Given the description of an element on the screen output the (x, y) to click on. 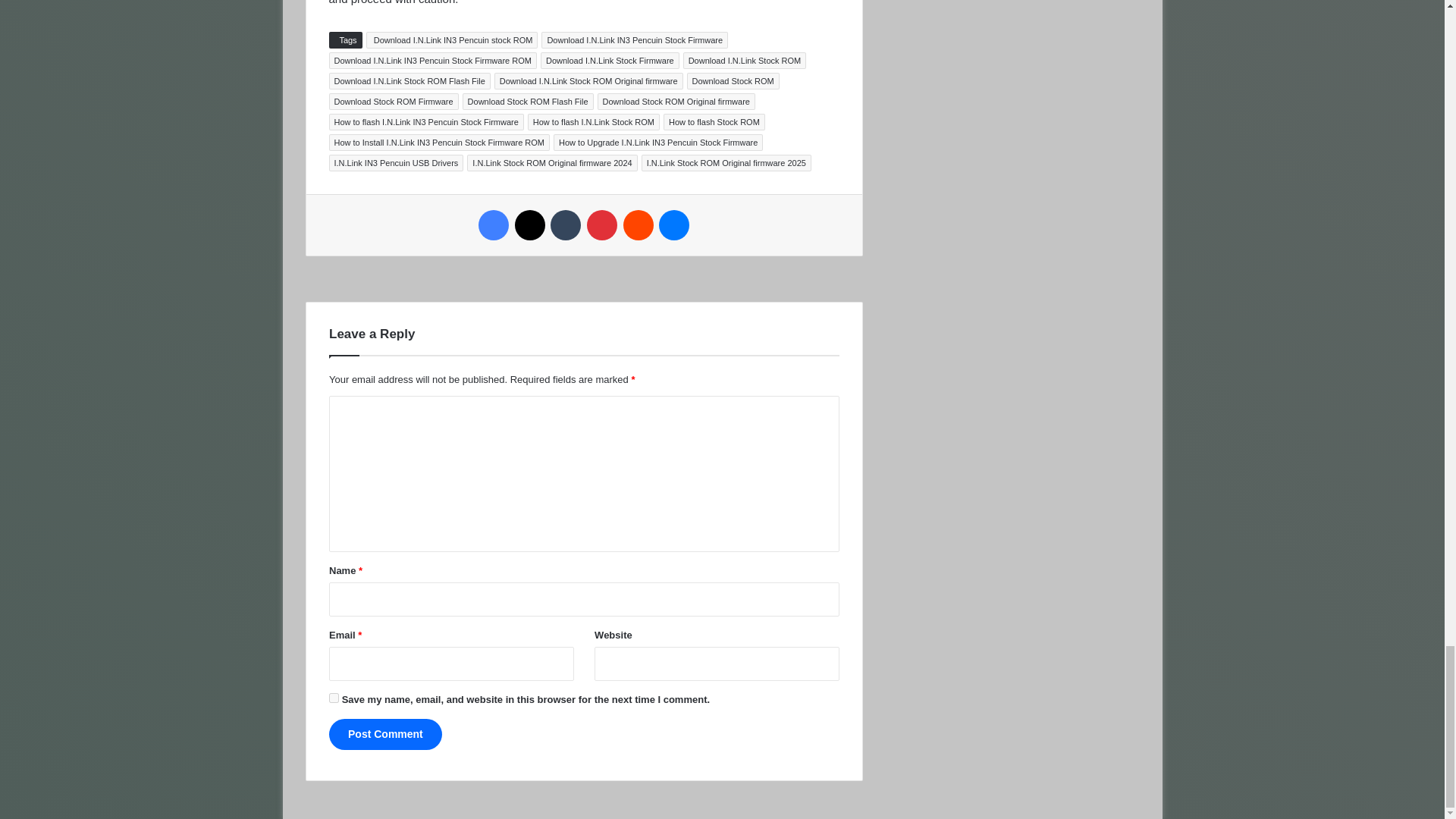
Tumblr (565, 224)
Facebook (493, 224)
 Download I.N.Link IN3 Pencuin stock ROM (452, 39)
Pinterest (601, 224)
yes (334, 697)
Messenger (673, 224)
Post Comment (385, 734)
X (529, 224)
Reddit (638, 224)
Download I.N.Link IN3 Pencuin Stock Firmware (634, 39)
